Given the description of an element on the screen output the (x, y) to click on. 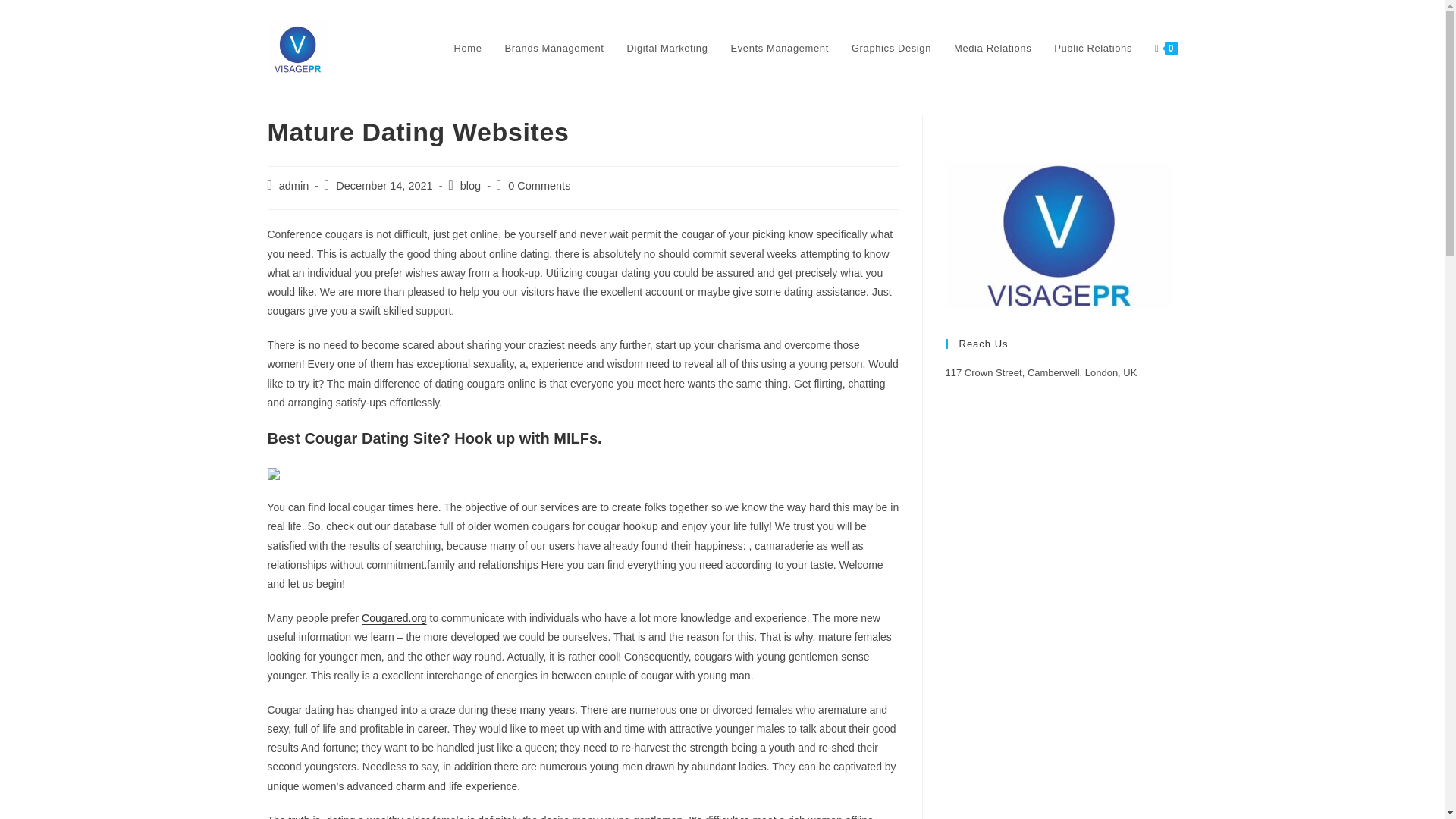
blog (470, 185)
Events Management (779, 48)
admin (293, 185)
Home (467, 48)
Graphics Design (891, 48)
Public Relations (1092, 48)
Media Relations (992, 48)
Posts by admin (293, 185)
Brands Management (554, 48)
Digital Marketing (666, 48)
Cougared.org (393, 617)
0 Comments (539, 185)
